Given the description of an element on the screen output the (x, y) to click on. 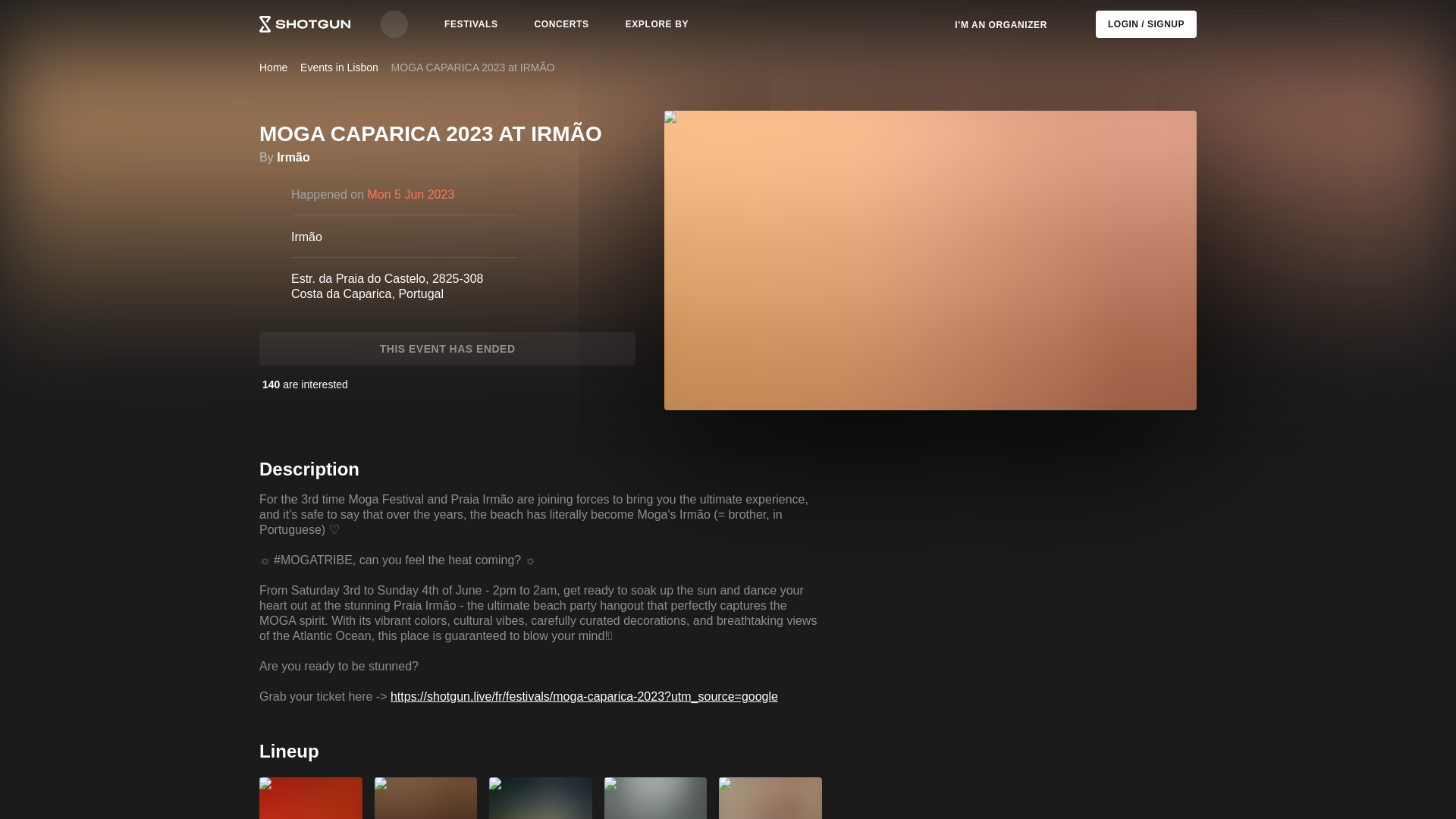
Home (272, 67)
Chaim (310, 798)
Jimi Jules (540, 798)
JOHN WOODS (655, 798)
CONCERTS (561, 24)
Events in Lisbon (338, 67)
FESTIVALS (470, 24)
